Given the description of an element on the screen output the (x, y) to click on. 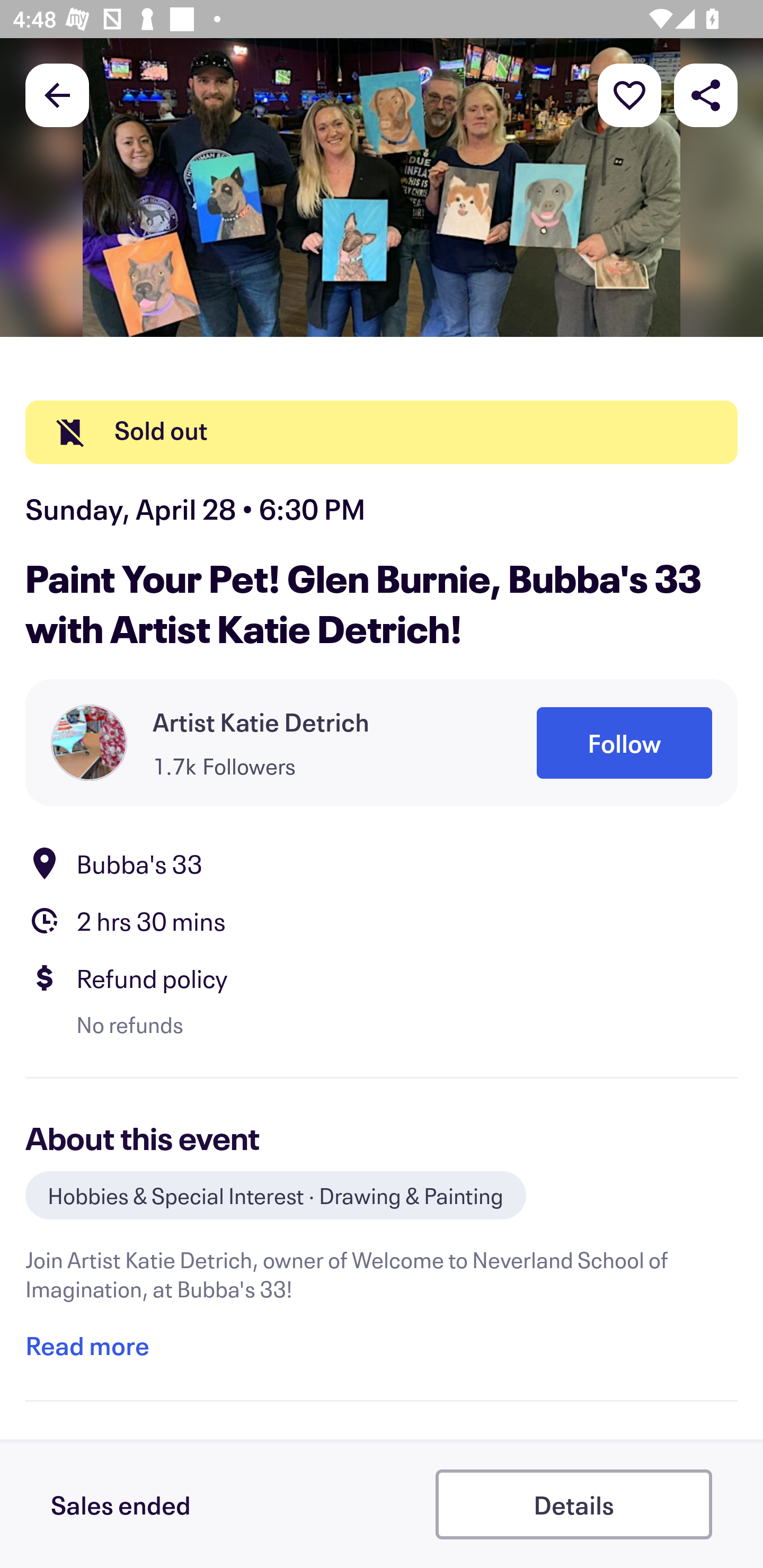
Back (57, 94)
More (629, 94)
Share (705, 94)
Artist Katie Detrich (260, 721)
Organizer profile picture (89, 742)
Follow (623, 742)
Location Bubba's 33 (381, 862)
Read more (87, 1344)
Details (573, 1504)
